Given the description of an element on the screen output the (x, y) to click on. 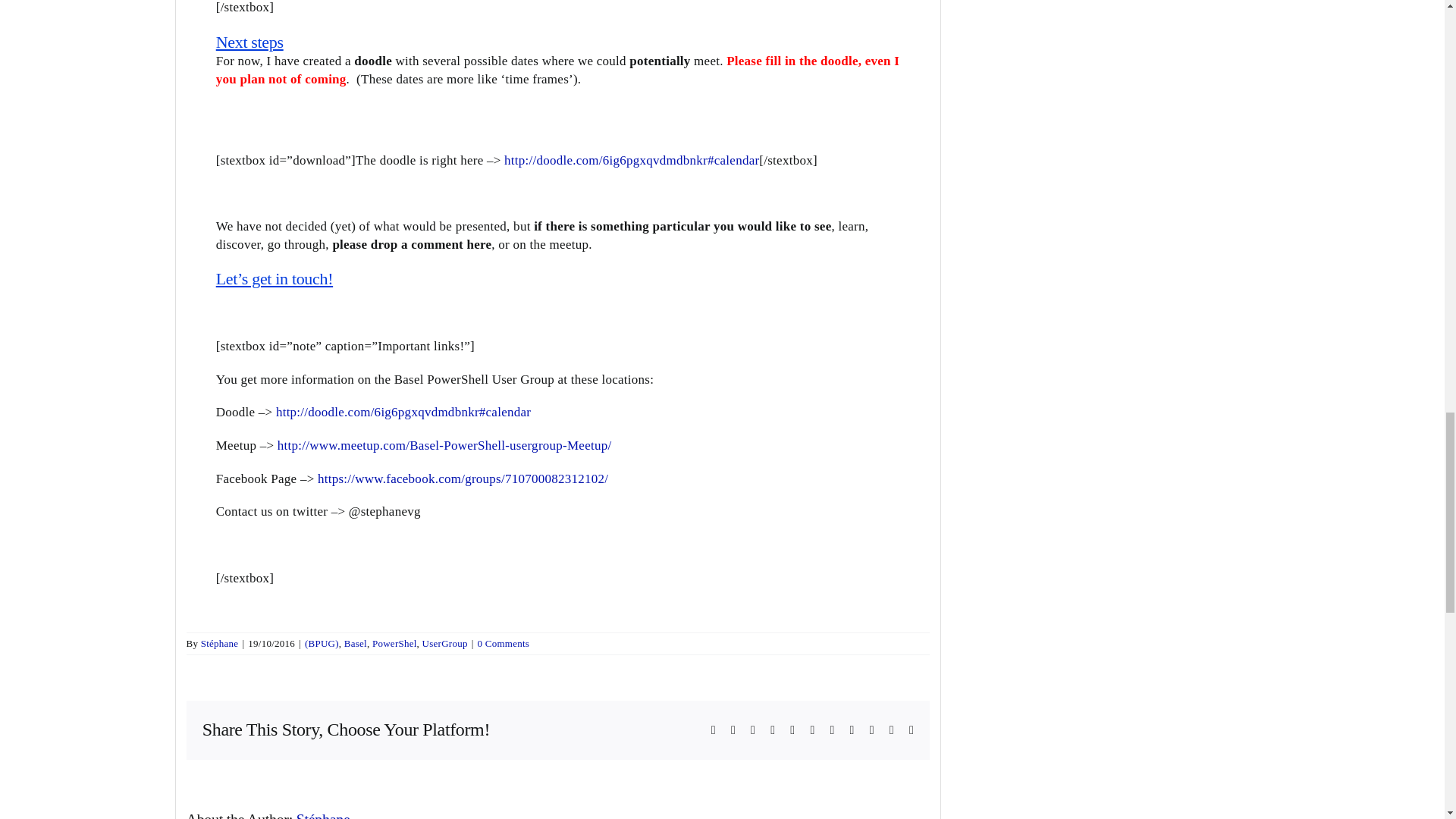
BPUG Facebook page (462, 478)
Doodle for the Basel Powershell User Group (630, 160)
Doodle for the Basel Powershell User Group (403, 411)
Meetup page (444, 445)
